Given the description of an element on the screen output the (x, y) to click on. 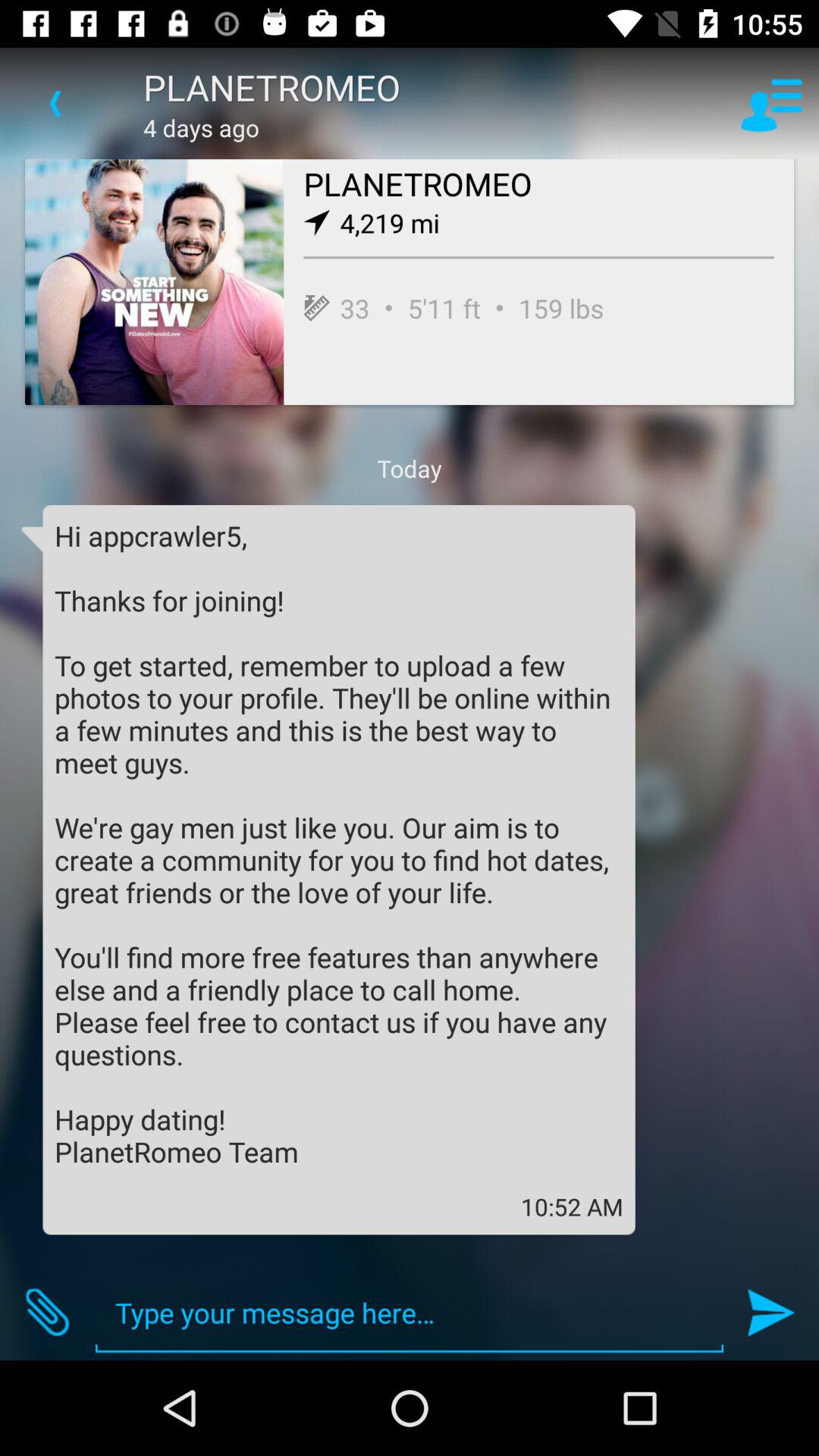
open icon above the 10:52 am (338, 843)
